Given the description of an element on the screen output the (x, y) to click on. 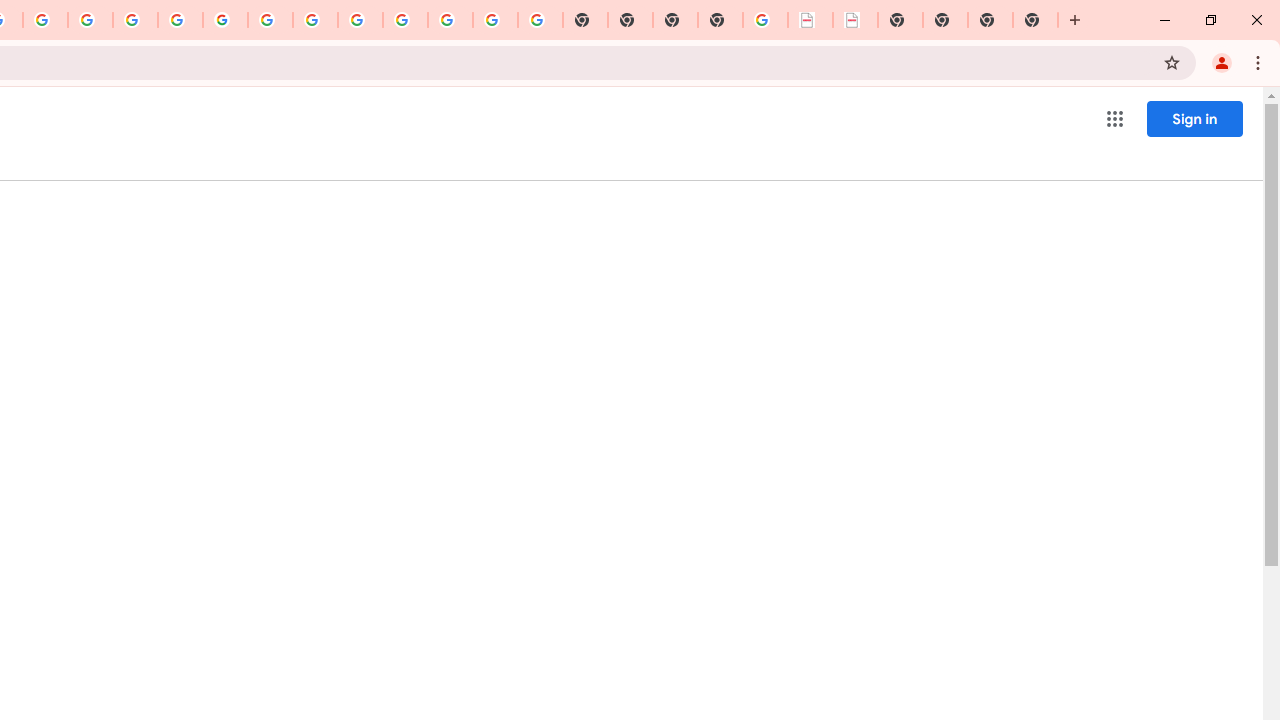
BAE Systems Brasil | BAE Systems (855, 20)
Privacy Help Center - Policies Help (89, 20)
New Tab (720, 20)
